Given the description of an element on the screen output the (x, y) to click on. 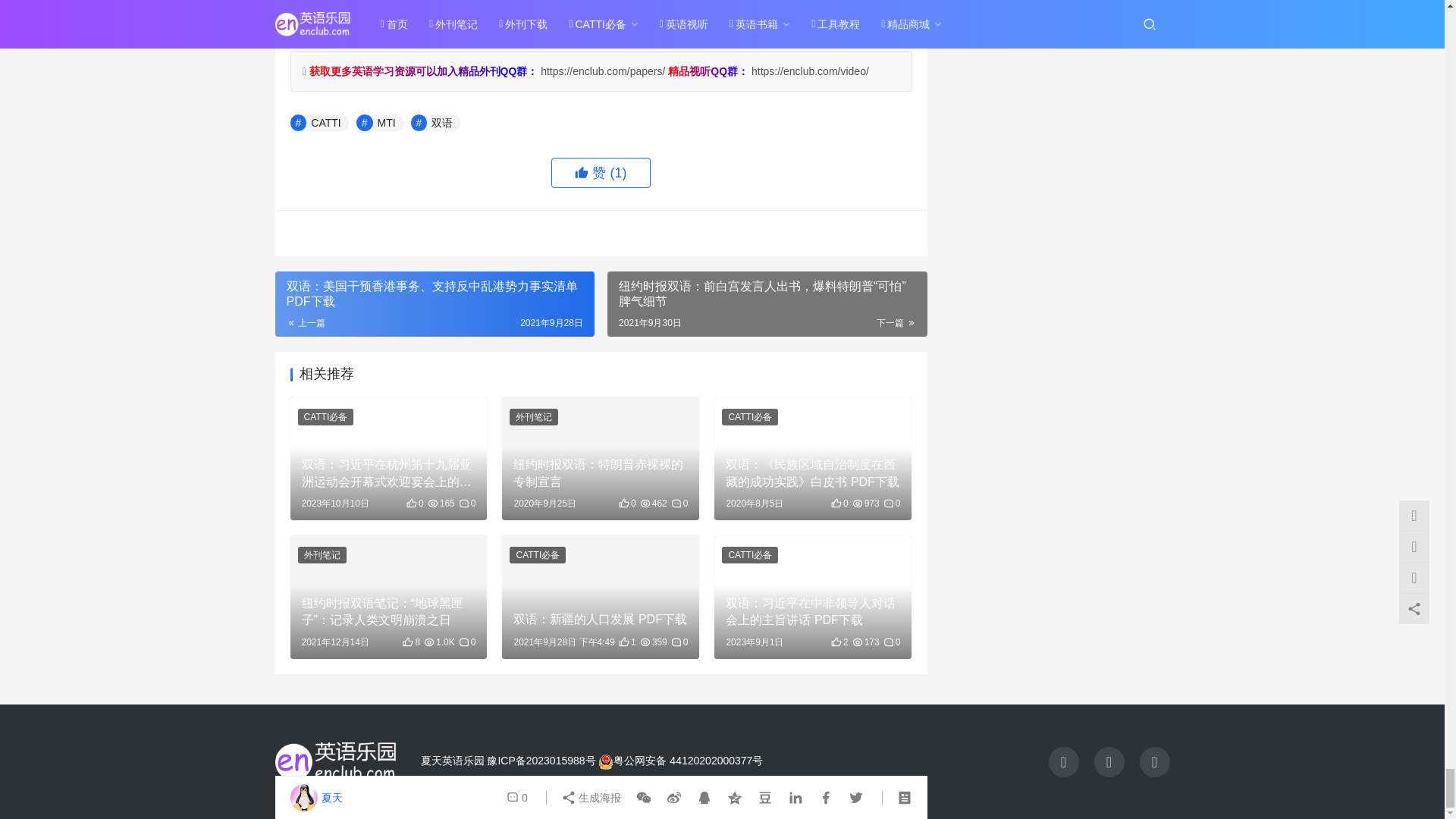
CATTI (318, 122)
MTI (379, 122)
